Given the description of an element on the screen output the (x, y) to click on. 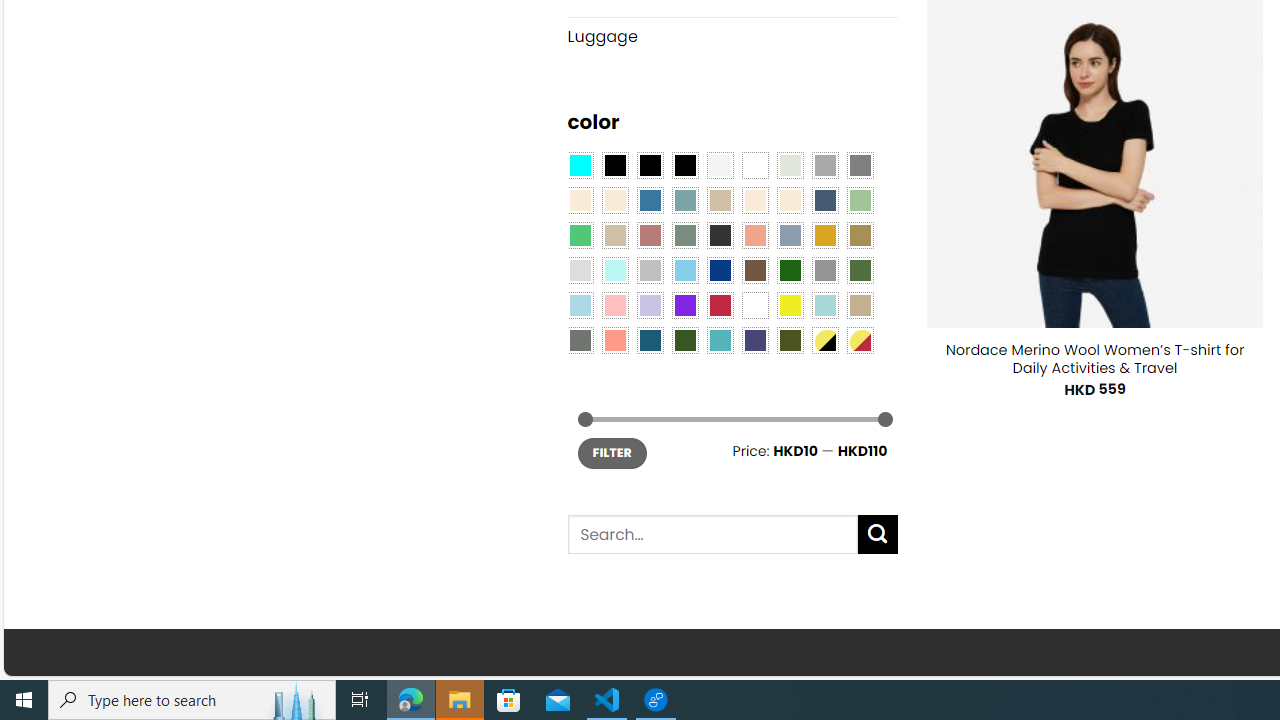
Kelp (859, 234)
Charcoal (719, 234)
Black (650, 164)
Luggage (732, 37)
FILTER (612, 452)
Brownie (719, 200)
Luggage (732, 36)
Coral (755, 234)
All Black (614, 164)
Aqua (824, 305)
Light Green (859, 200)
Pearly White (719, 164)
Brown (755, 269)
Forest (684, 339)
Red (719, 305)
